Given the description of an element on the screen output the (x, y) to click on. 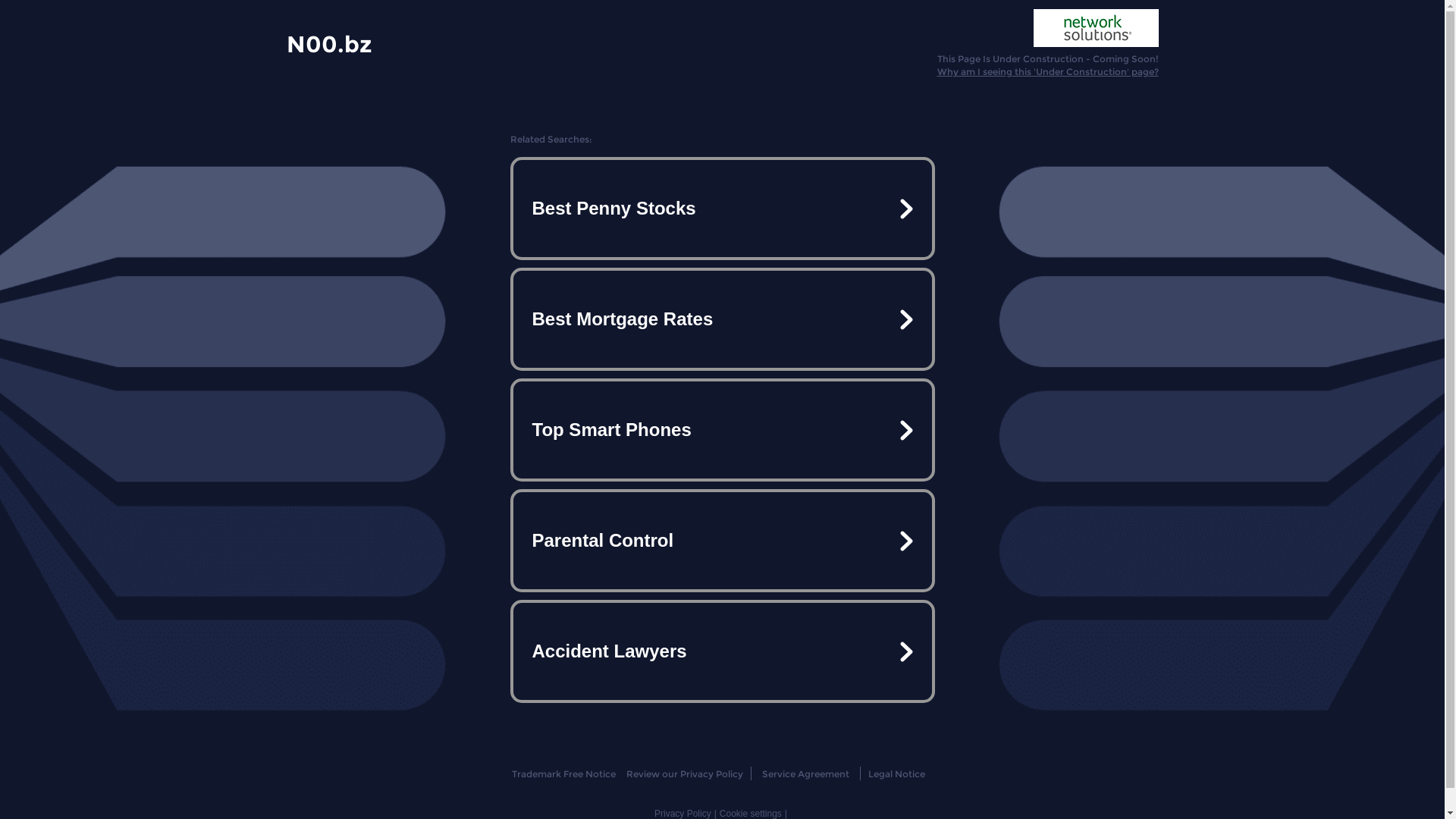
Service Agreement Element type: text (805, 773)
Top Smart Phones Element type: text (721, 429)
Review our Privacy Policy Element type: text (684, 773)
Parental Control Element type: text (721, 540)
Accident Lawyers Element type: text (721, 650)
Best Penny Stocks Element type: text (721, 208)
Legal Notice Element type: text (896, 773)
Why am I seeing this 'Under Construction' page? Element type: text (1047, 71)
N00.bz Element type: text (329, 43)
Best Mortgage Rates Element type: text (721, 318)
Trademark Free Notice Element type: text (563, 773)
